Given the description of an element on the screen output the (x, y) to click on. 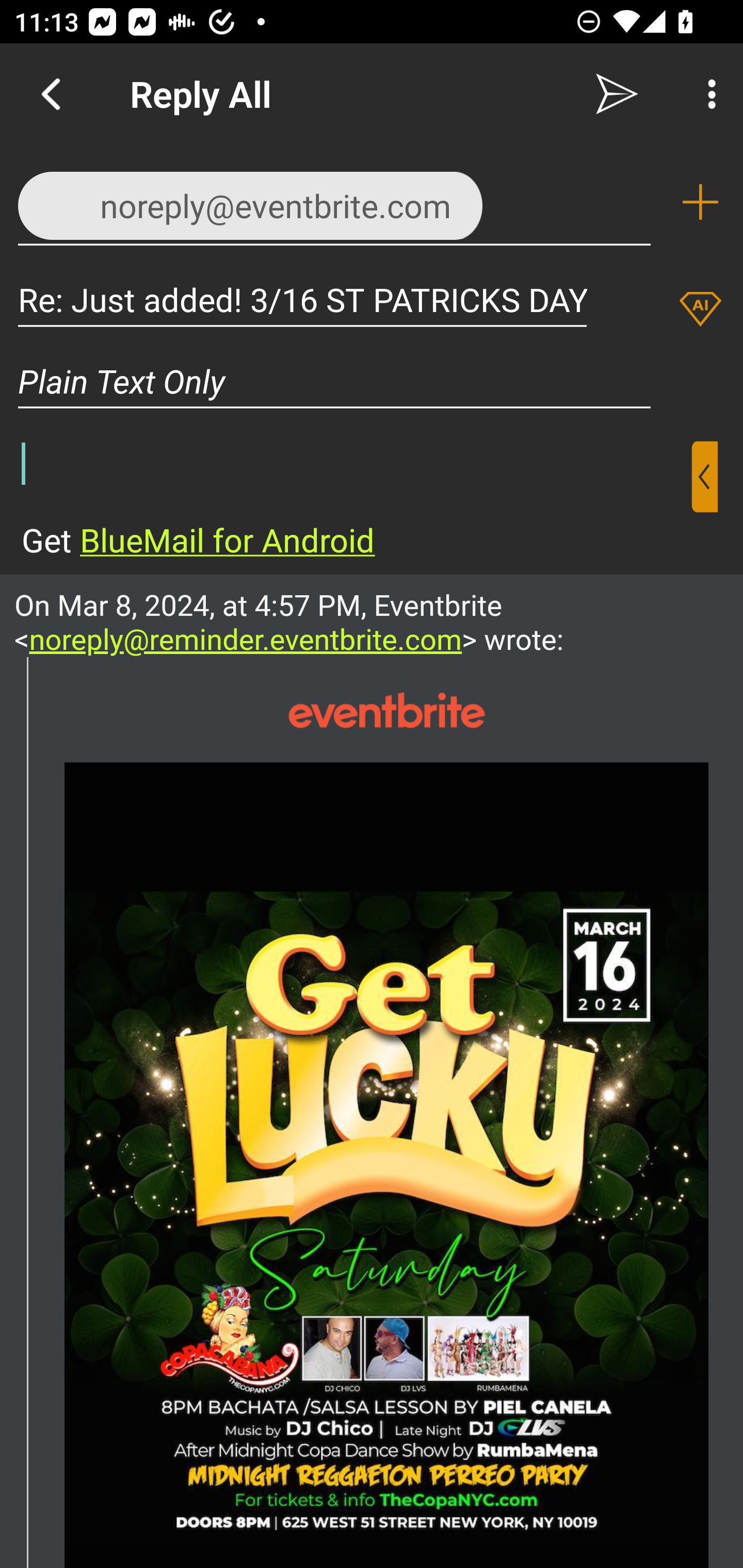
Navigate up (50, 93)
Send (616, 93)
More Options (706, 93)
<noreply@eventbrite.com>,  (334, 201)
Add recipient (To) (699, 201)
Plain Text Only (371, 380)


⁣Get BlueMail for Android ​ (355, 501)
noreply@reminder.eventbrite.com (245, 638)
Eventbrite (385, 710)
